Given the description of an element on the screen output the (x, y) to click on. 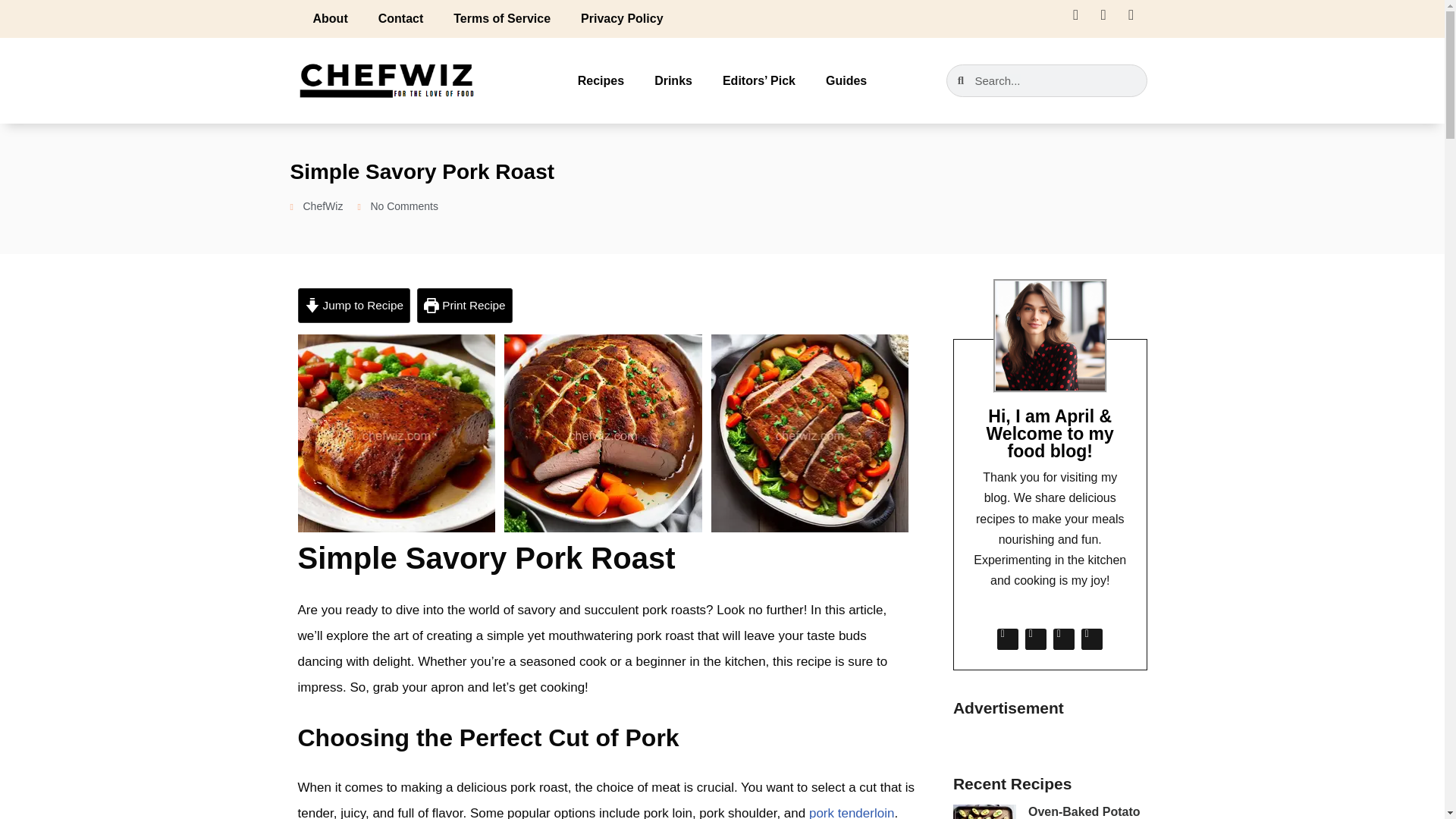
Drinks (673, 80)
Contact (400, 18)
pork tenderloin (851, 812)
Privacy Policy (622, 18)
Recipes (600, 80)
No Comments (397, 207)
ChefWiz (315, 207)
About (329, 18)
Jump to Recipe (353, 305)
Terms of Service (502, 18)
Print Recipe (464, 305)
Skip to content (11, 31)
pork tenderloin (851, 812)
Guides (846, 80)
